Given the description of an element on the screen output the (x, y) to click on. 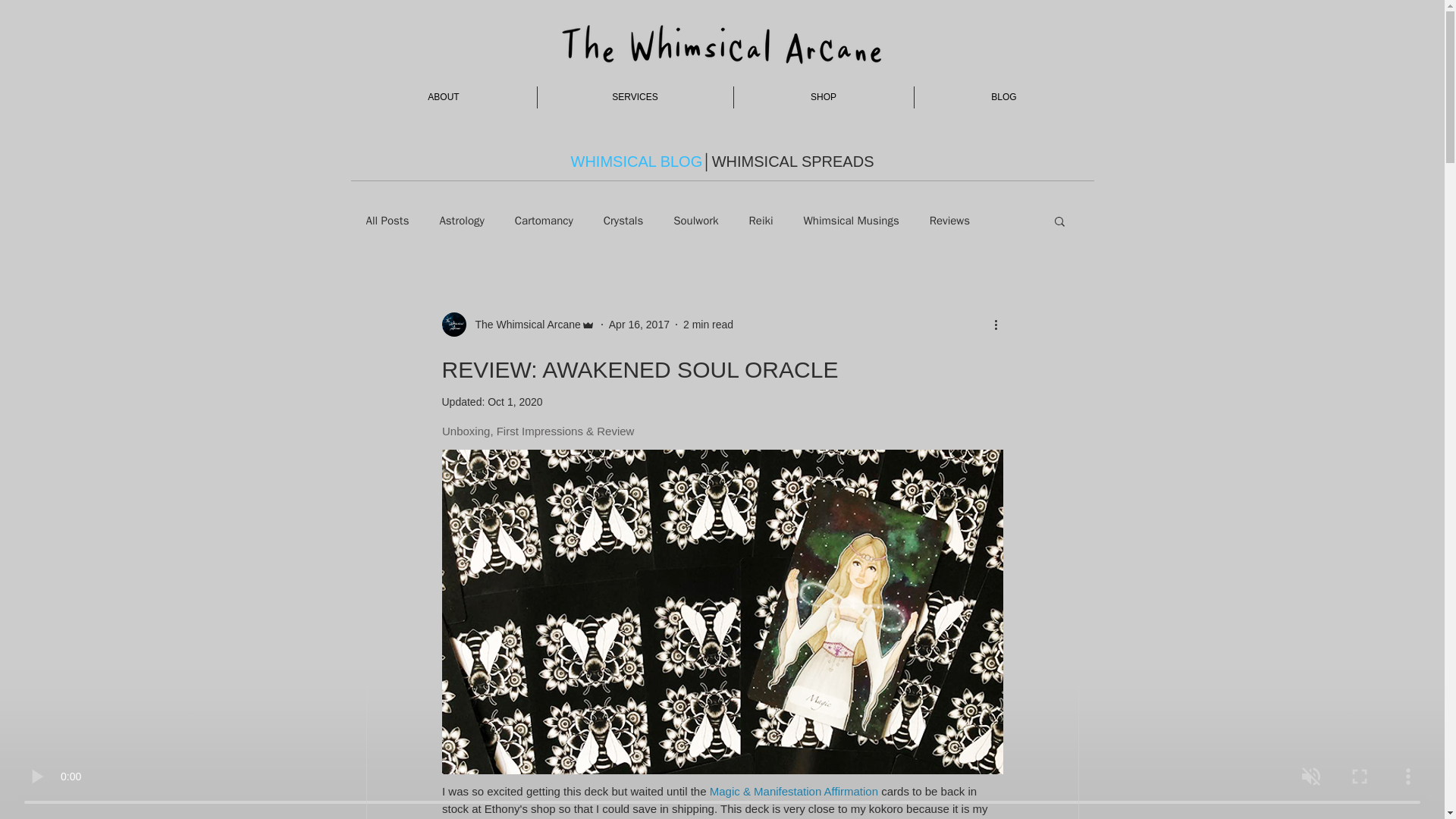
ABOUT (442, 97)
The Whimsical Arcane (522, 324)
Crystals (623, 220)
BLOG (1004, 97)
WHIMSICAL BLOG (635, 161)
WHIMSICAL SPREADS (793, 161)
Whimsical Musings (851, 220)
SERVICES (634, 97)
SHOP (823, 97)
Astrology (461, 220)
Oct 1, 2020 (514, 401)
Cartomancy (544, 220)
All Posts (387, 220)
Apr 16, 2017 (638, 324)
Reviews (949, 220)
